Given the description of an element on the screen output the (x, y) to click on. 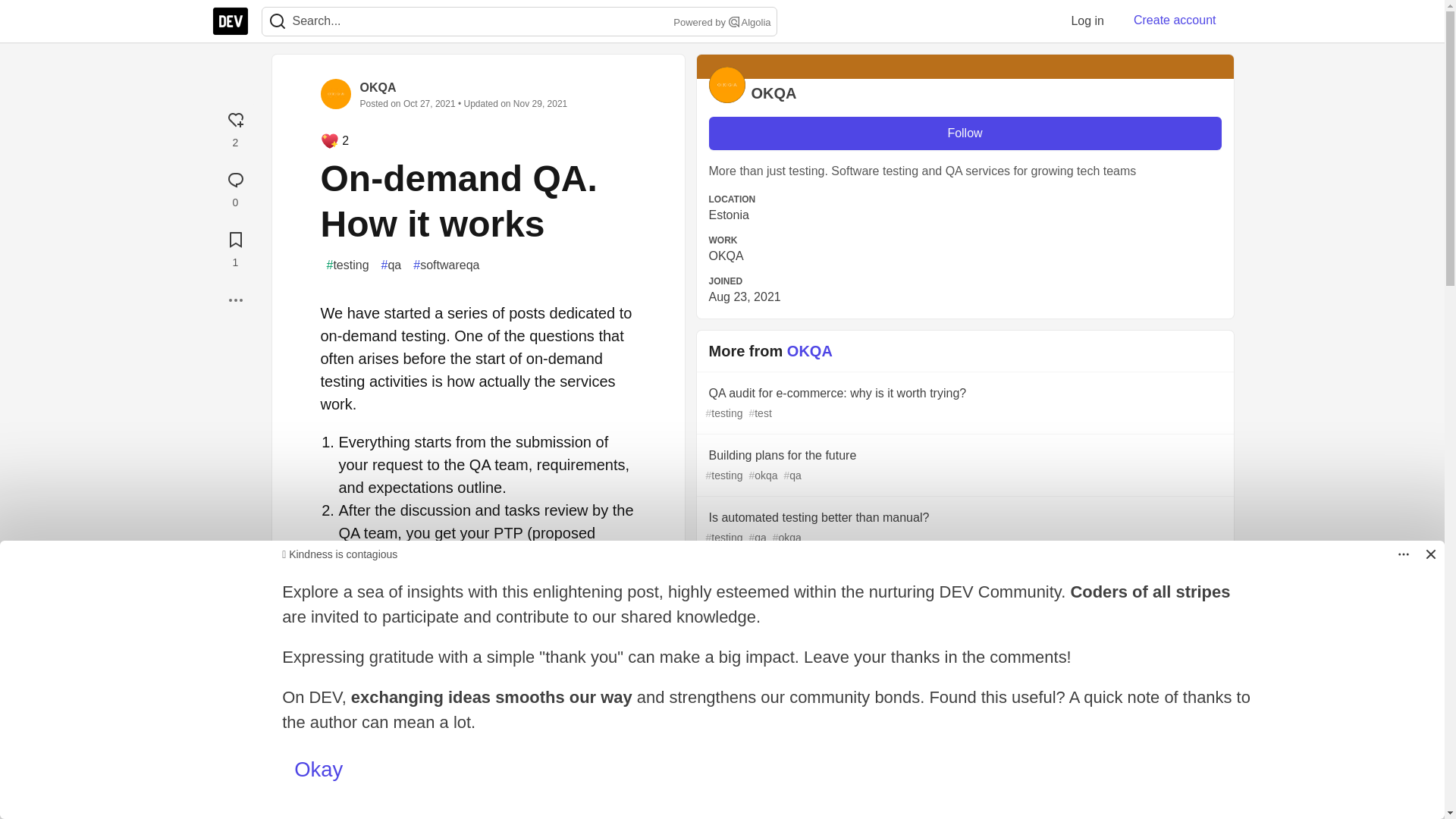
1 (235, 247)
More... (234, 299)
Dropdown menu (1403, 554)
0 (235, 187)
Powered by Algolia (720, 22)
Log in (1087, 20)
More... (234, 300)
Monday, November 29, 2021 at 10:07:45 PM (540, 103)
Wednesday, October 27, 2021 at 7:43:27 PM (429, 103)
Create account (1174, 20)
Close (1430, 554)
OKQA (377, 87)
